Given the description of an element on the screen output the (x, y) to click on. 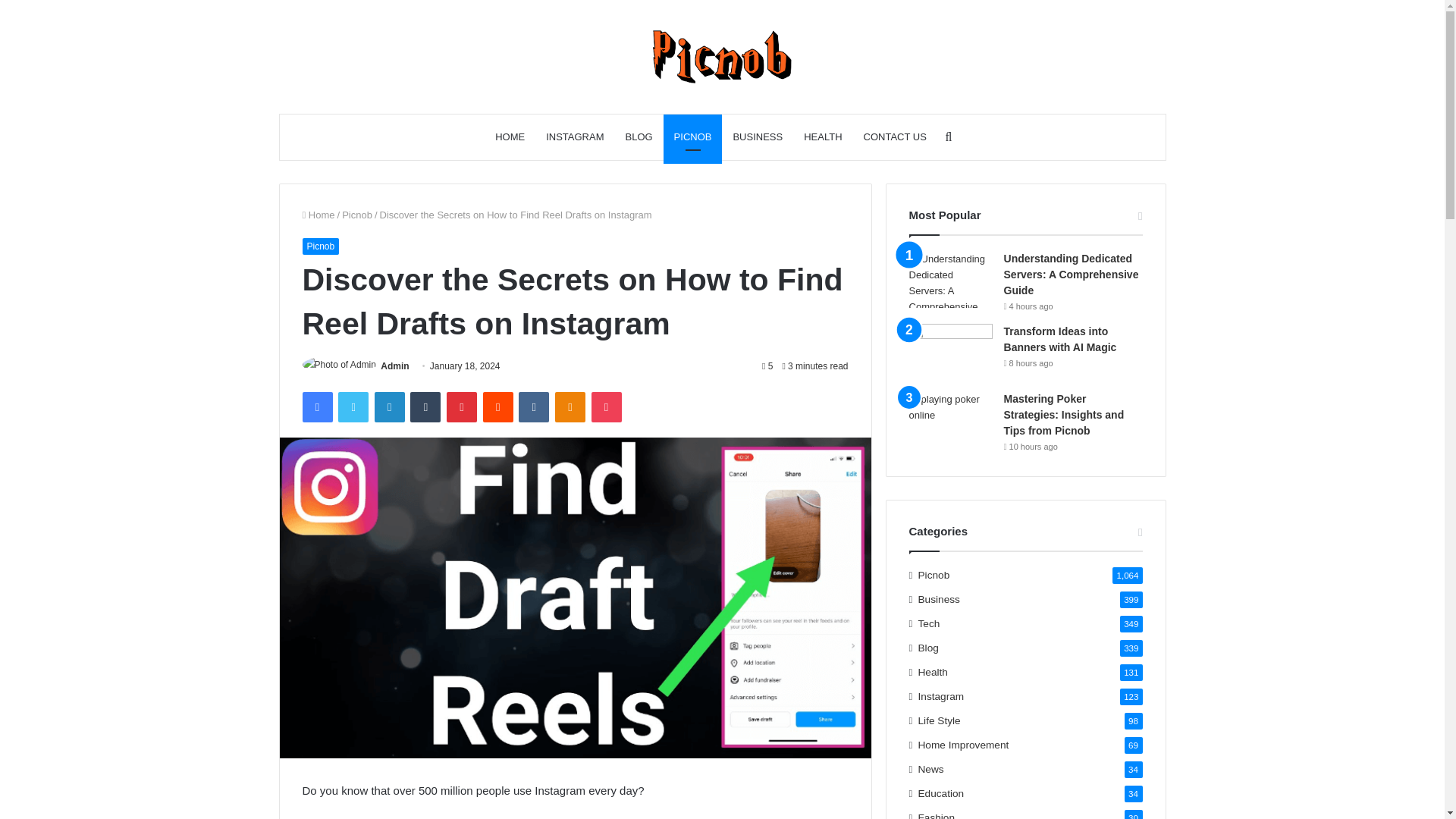
Home (317, 214)
BLOG (638, 136)
HOME (509, 136)
PICNOB (692, 136)
INSTAGRAM (574, 136)
Facebook (316, 407)
Picnob (357, 214)
Admin (394, 366)
Pinterest (461, 407)
Pinterest (461, 407)
